Given the description of an element on the screen output the (x, y) to click on. 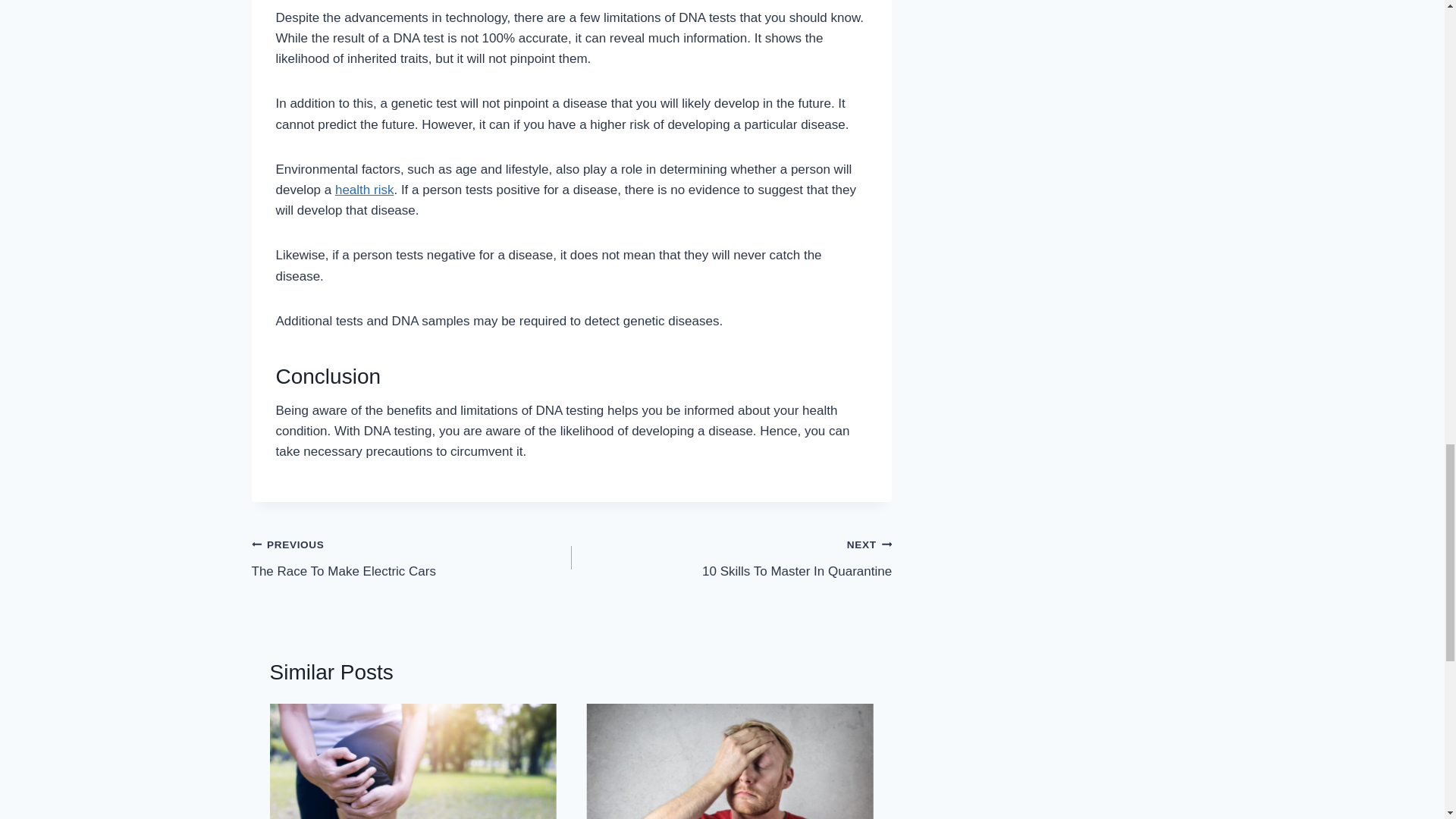
health risk (363, 189)
